Given the description of an element on the screen output the (x, y) to click on. 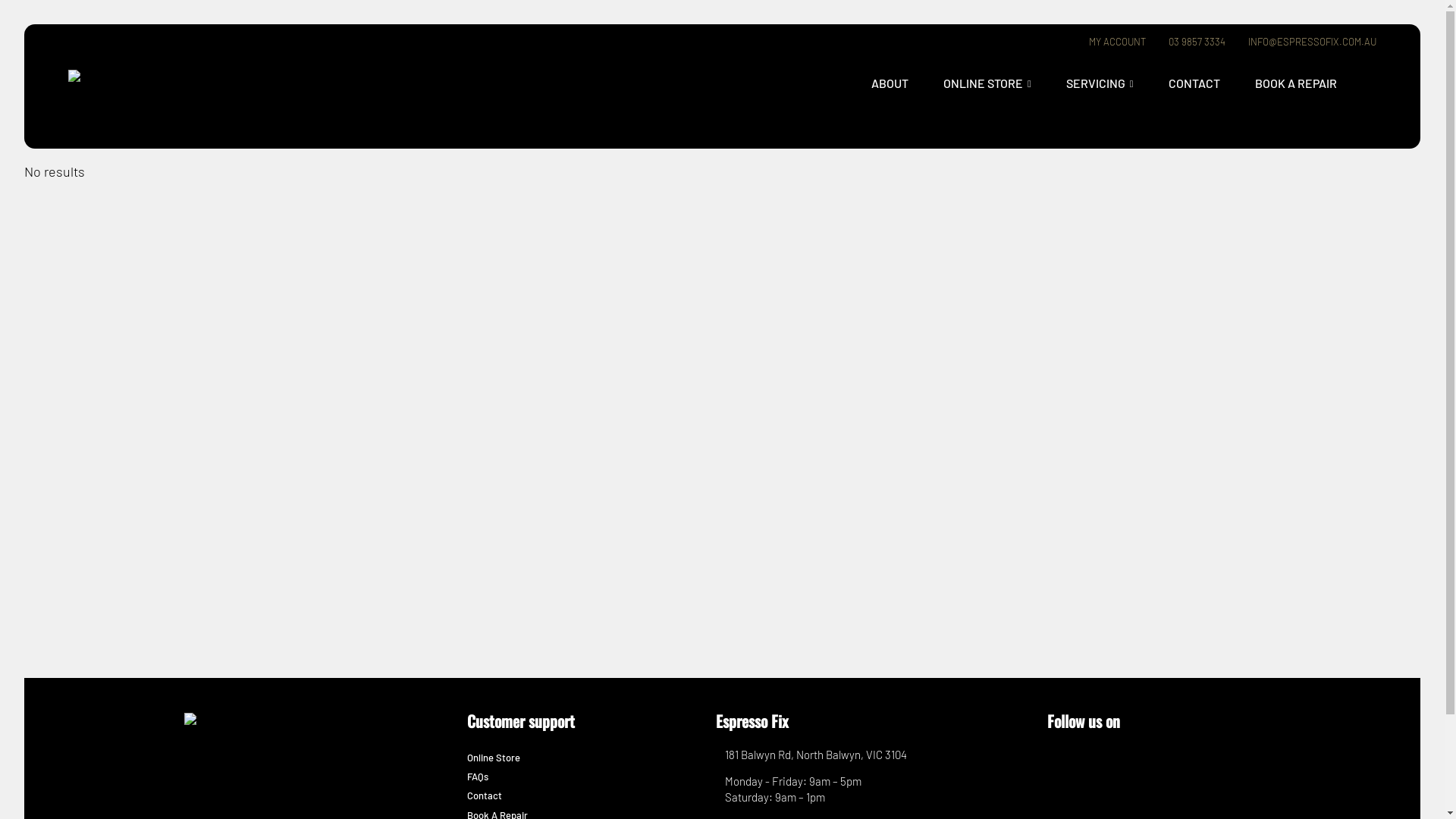
Contact Element type: text (484, 795)
FAQs Element type: text (477, 776)
CONTACT Element type: text (1194, 83)
MY ACCOUNT Element type: text (1113, 41)
ABOUT Element type: text (889, 83)
03 9857 3334 Element type: text (1193, 41)
ONLINE STORE Element type: text (987, 83)
INFO@ESPRESSOFIX.COM.AU Element type: text (1309, 41)
Online Store Element type: text (493, 757)
BOOK A REPAIR Element type: text (1295, 83)
SERVICING Element type: text (1099, 83)
